Given the description of an element on the screen output the (x, y) to click on. 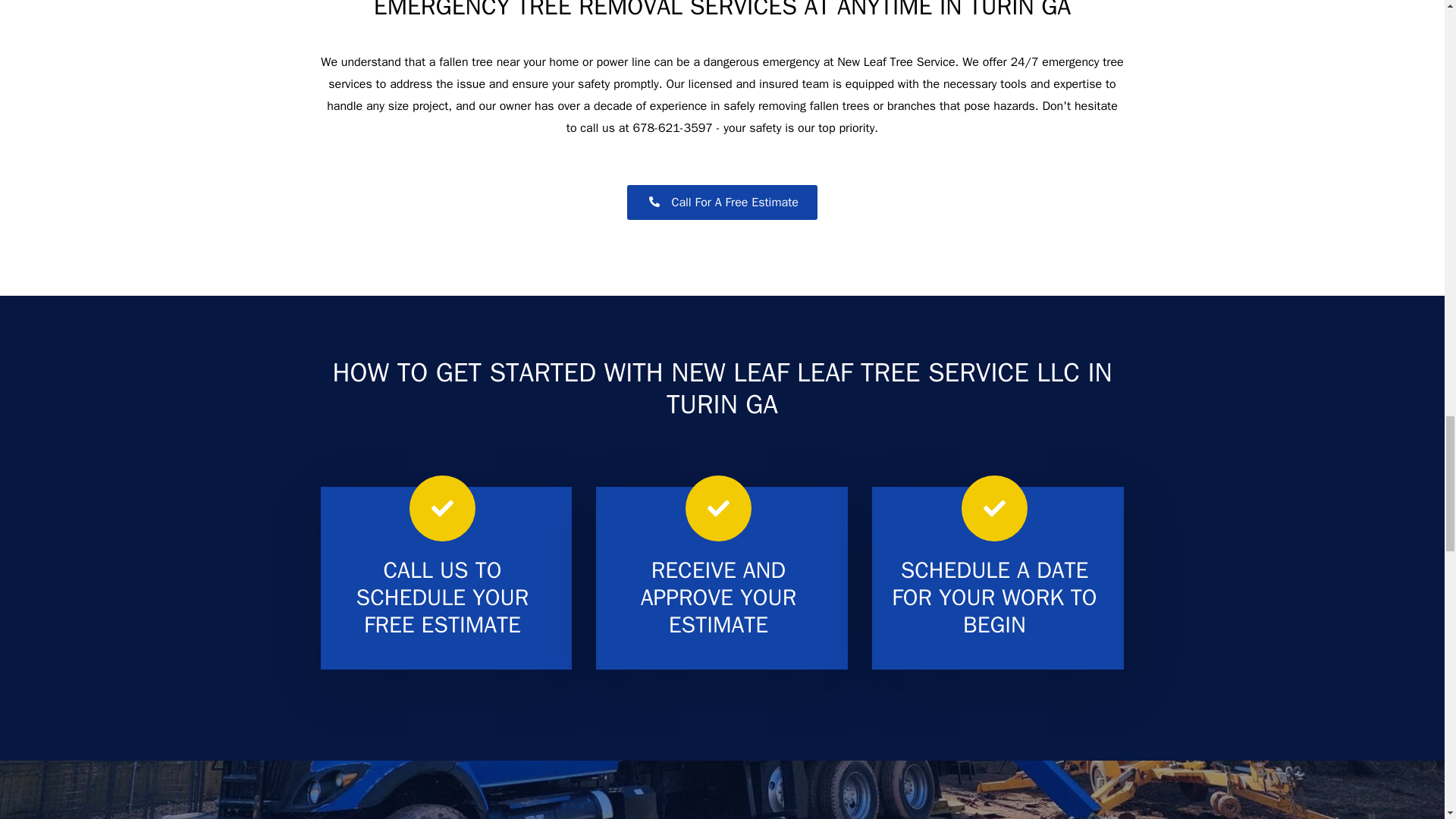
Call For A Free Estimate (721, 202)
